Given the description of an element on the screen output the (x, y) to click on. 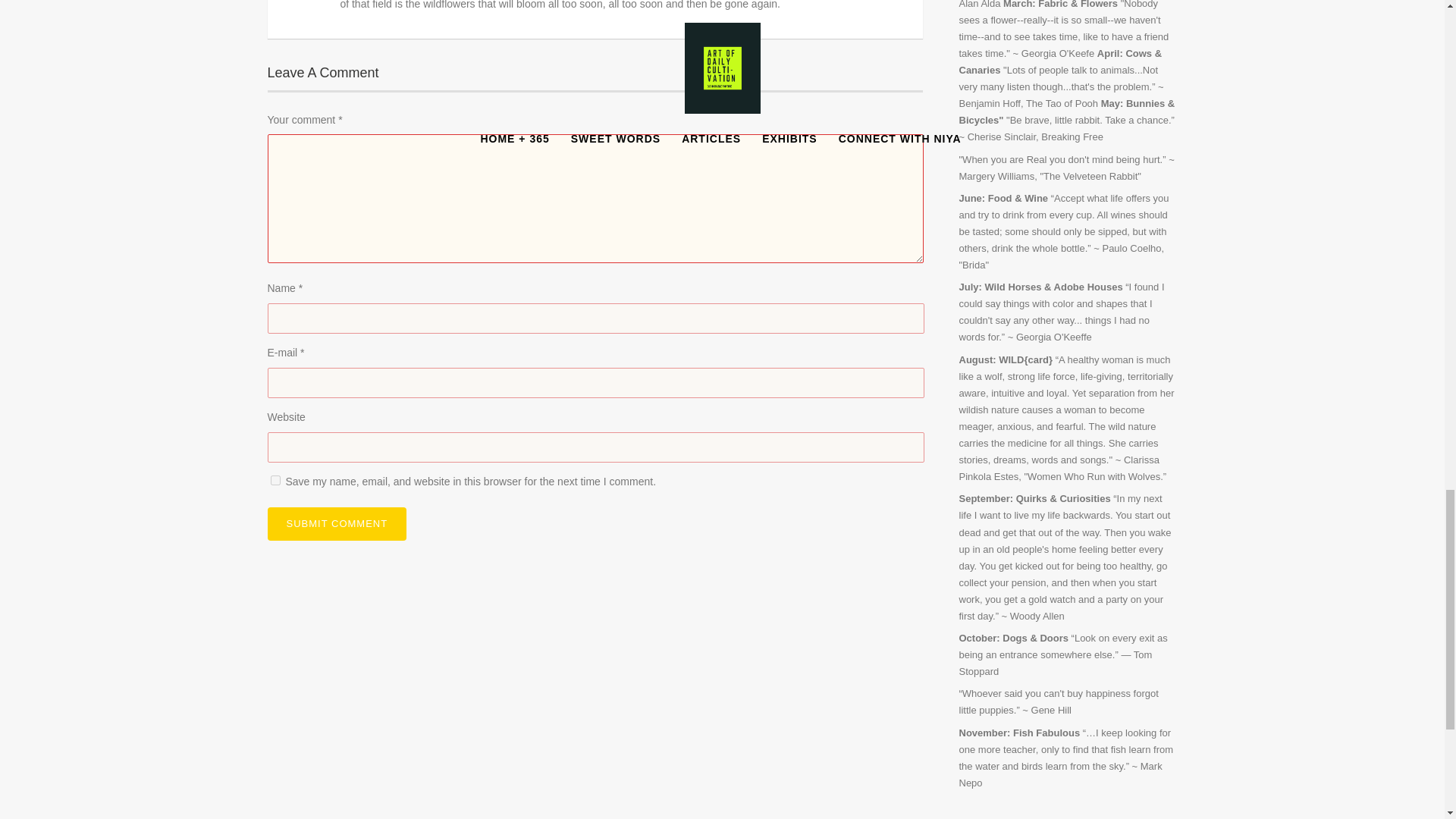
yes (274, 480)
Submit comment (336, 523)
